Given the description of an element on the screen output the (x, y) to click on. 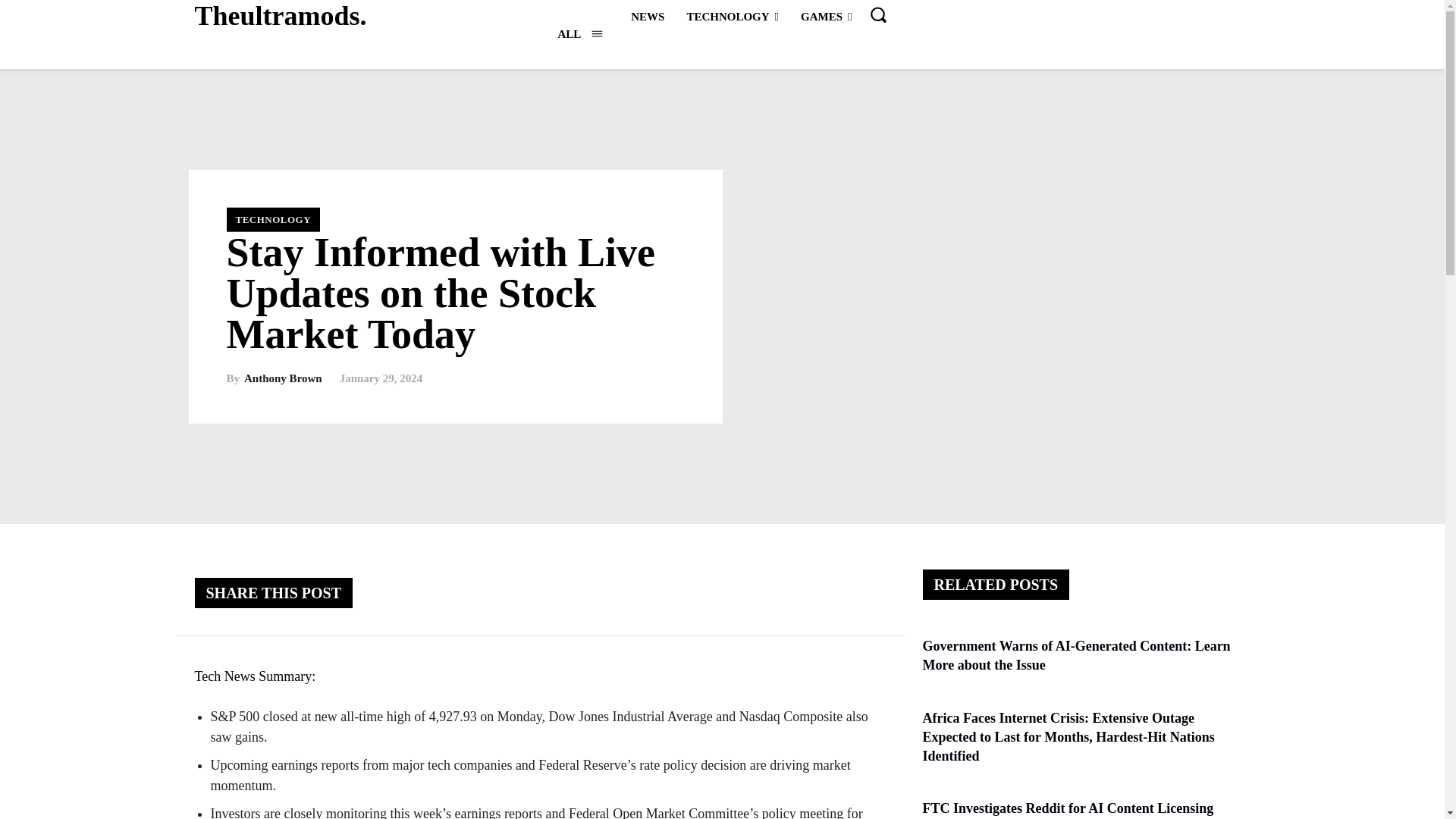
NEWS (646, 15)
All (579, 33)
ALL (579, 33)
TECHNOLOGY (732, 15)
Theultramods. (279, 16)
